Given the description of an element on the screen output the (x, y) to click on. 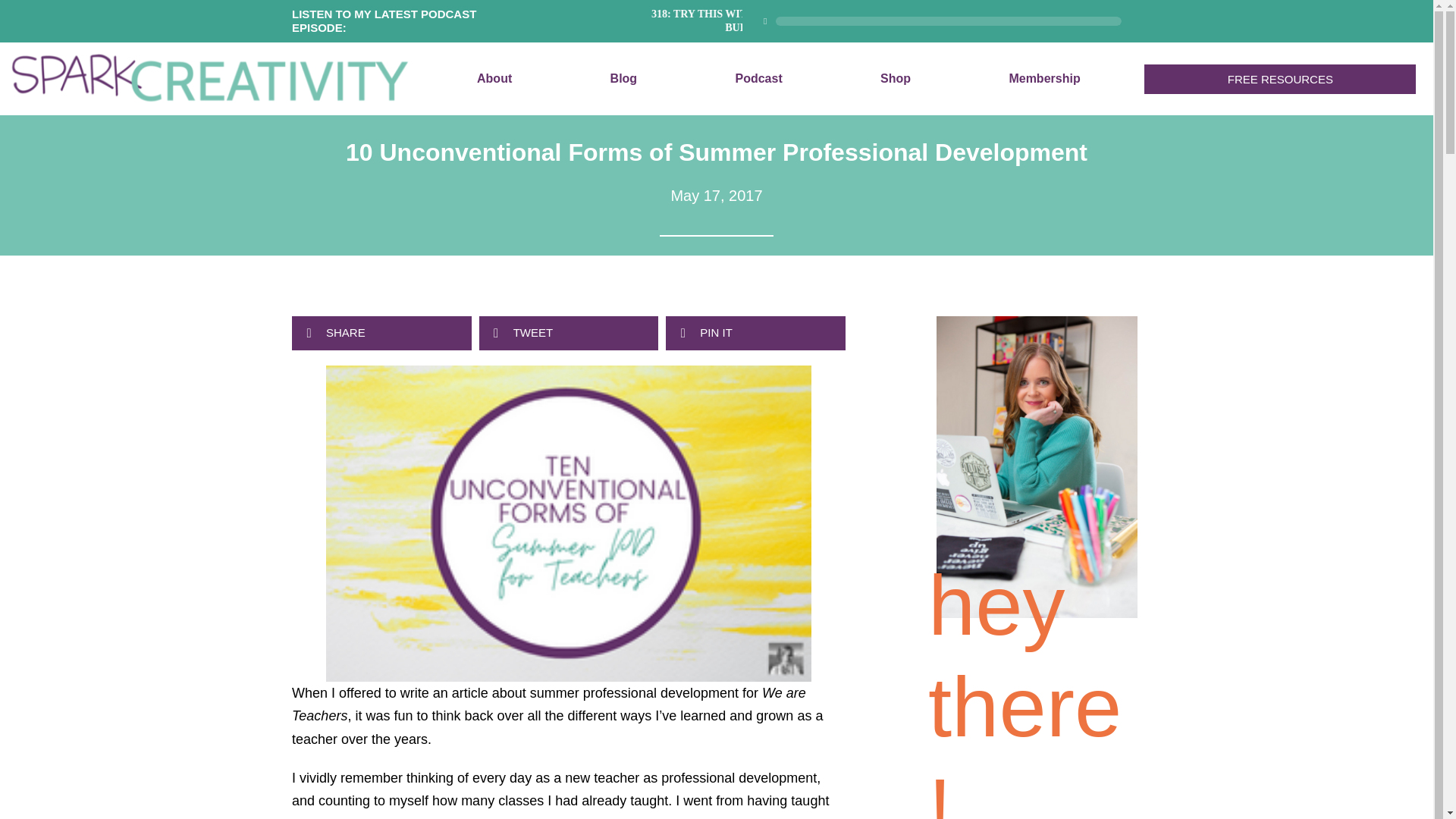
Blog (622, 78)
Podcast (758, 78)
FREE RESOURCES (1279, 79)
Membership (1044, 78)
Shop (895, 78)
About (494, 78)
